Given the description of an element on the screen output the (x, y) to click on. 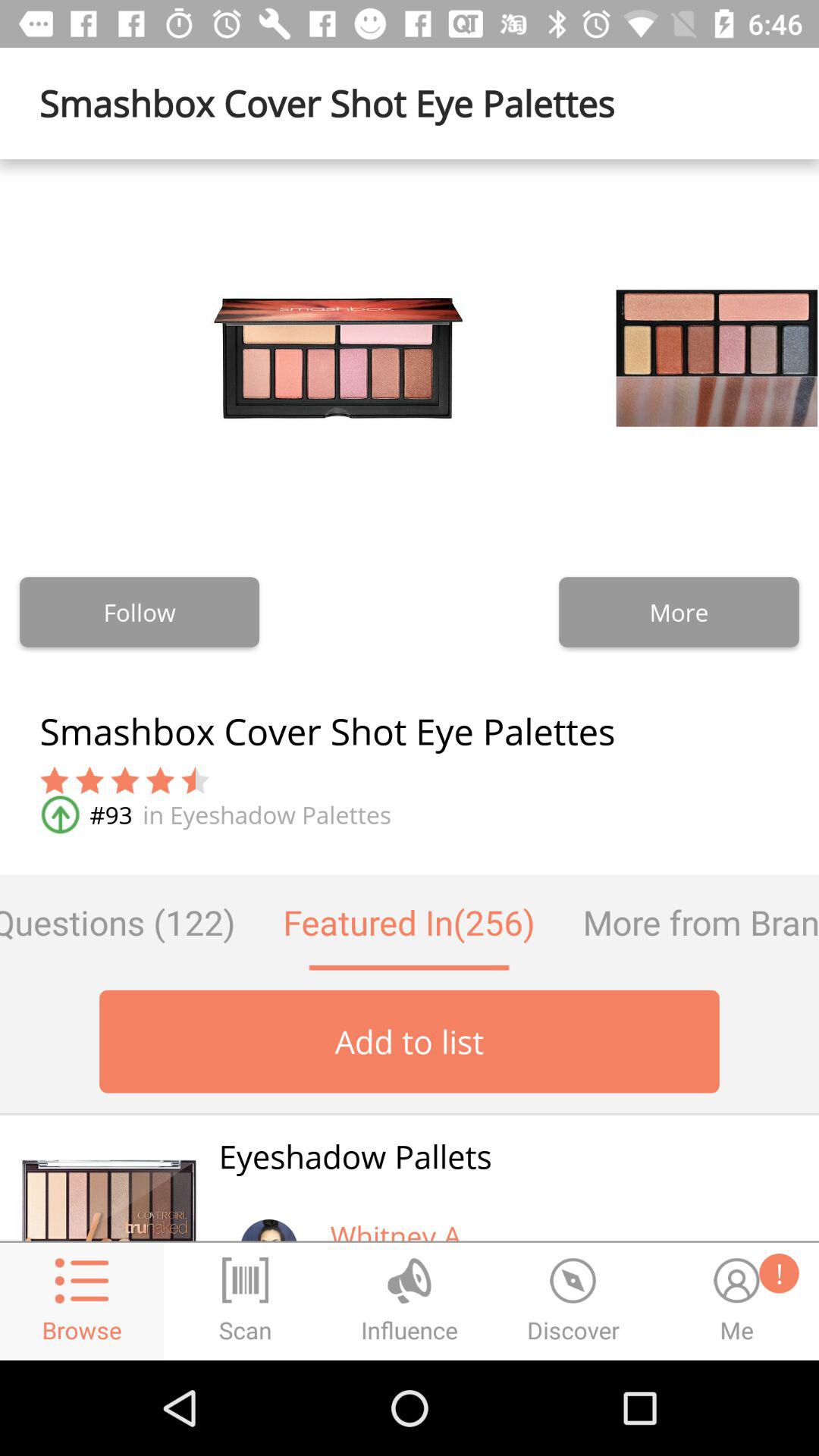
select questions (122) (129, 922)
